Given the description of an element on the screen output the (x, y) to click on. 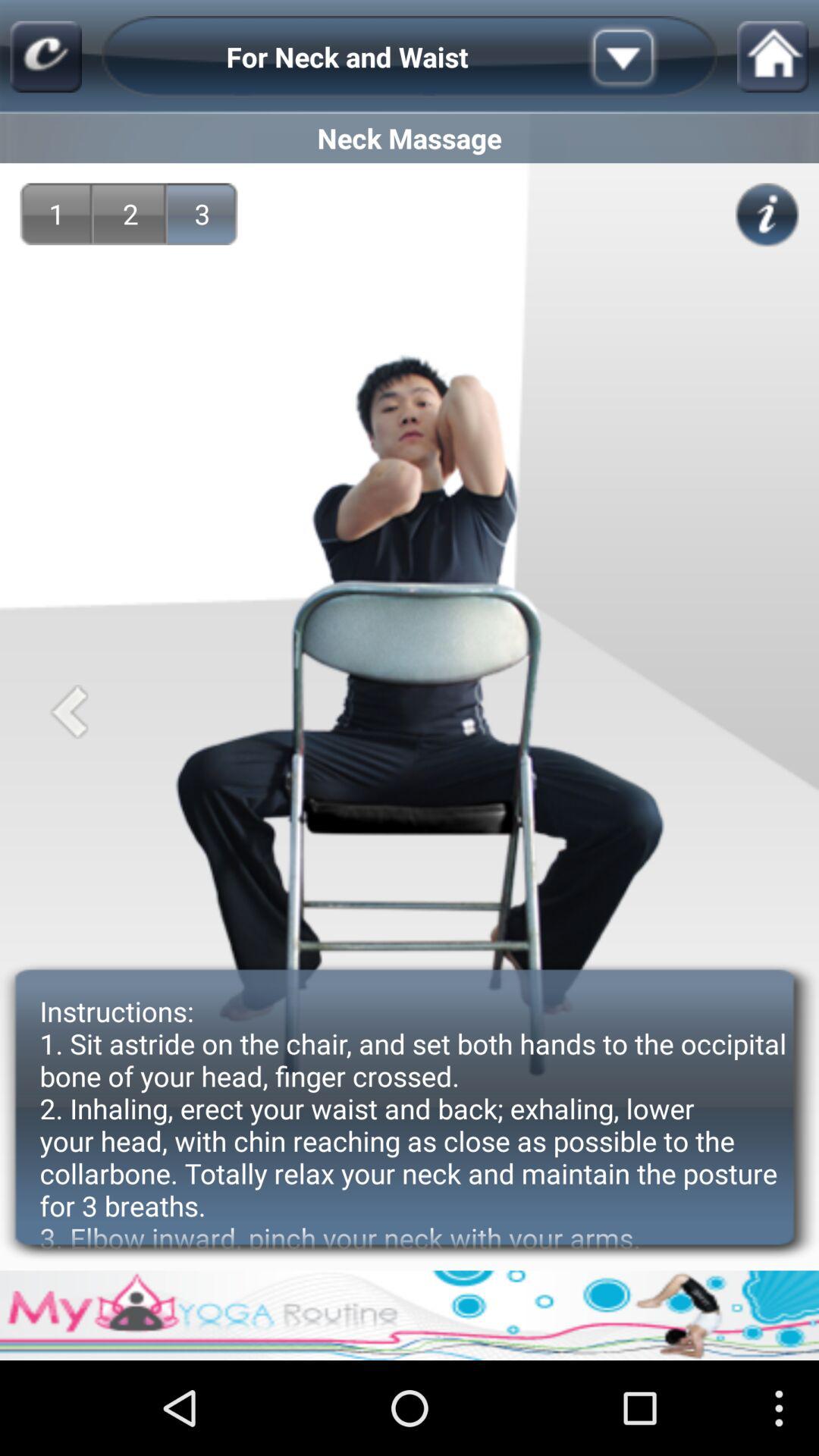
click item below the neck massage (767, 214)
